Given the description of an element on the screen output the (x, y) to click on. 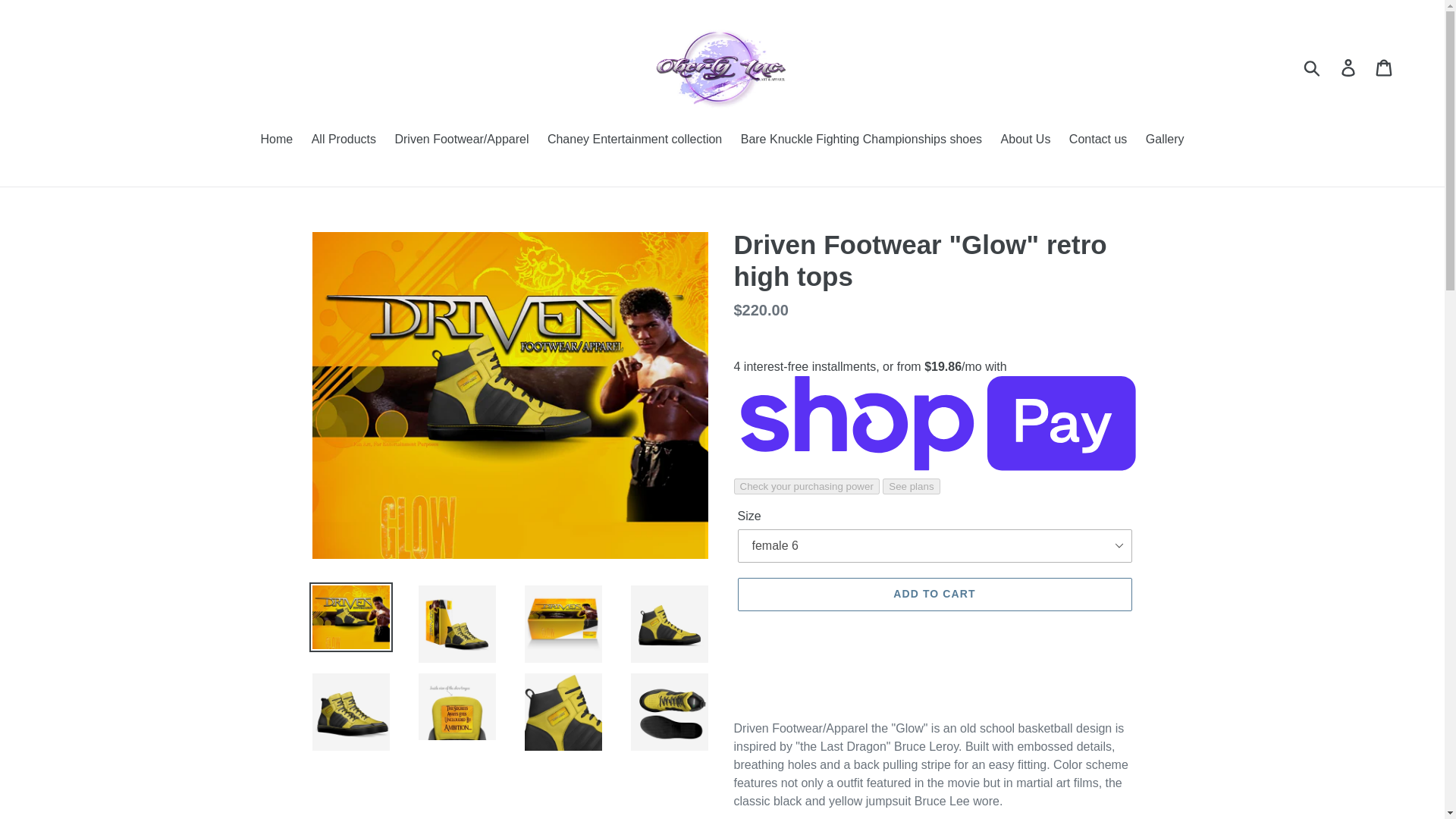
Cart (1385, 66)
Contact us (1097, 140)
ADD TO CART (933, 594)
Gallery (1165, 140)
All Products (344, 140)
Chaney Entertainment collection (634, 140)
Submit (1313, 66)
Bare Knuckle Fighting Championships shoes (861, 140)
Home (277, 140)
Log in (1349, 66)
About Us (1025, 140)
